Given the description of an element on the screen output the (x, y) to click on. 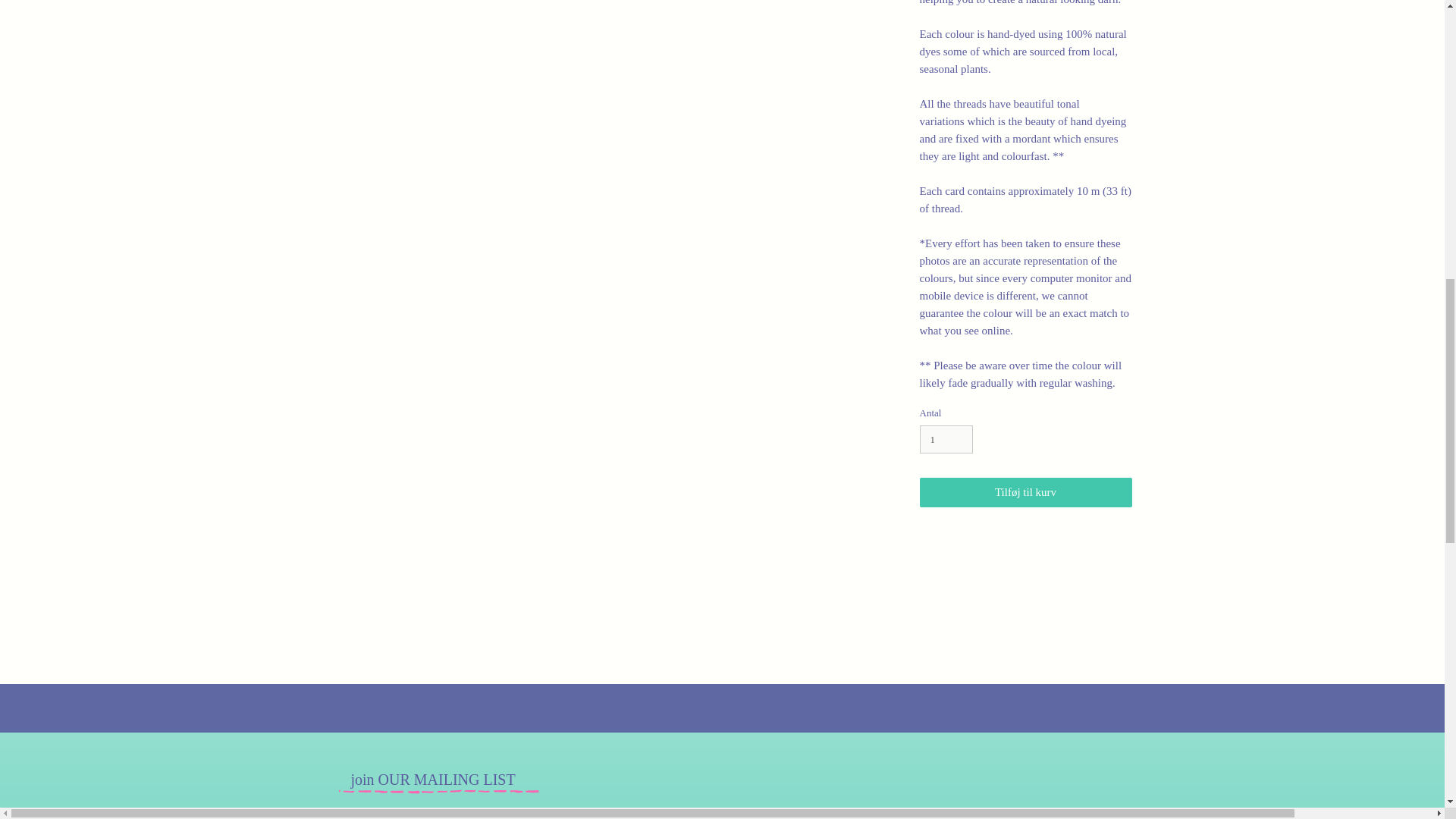
1 (945, 439)
